Given the description of an element on the screen output the (x, y) to click on. 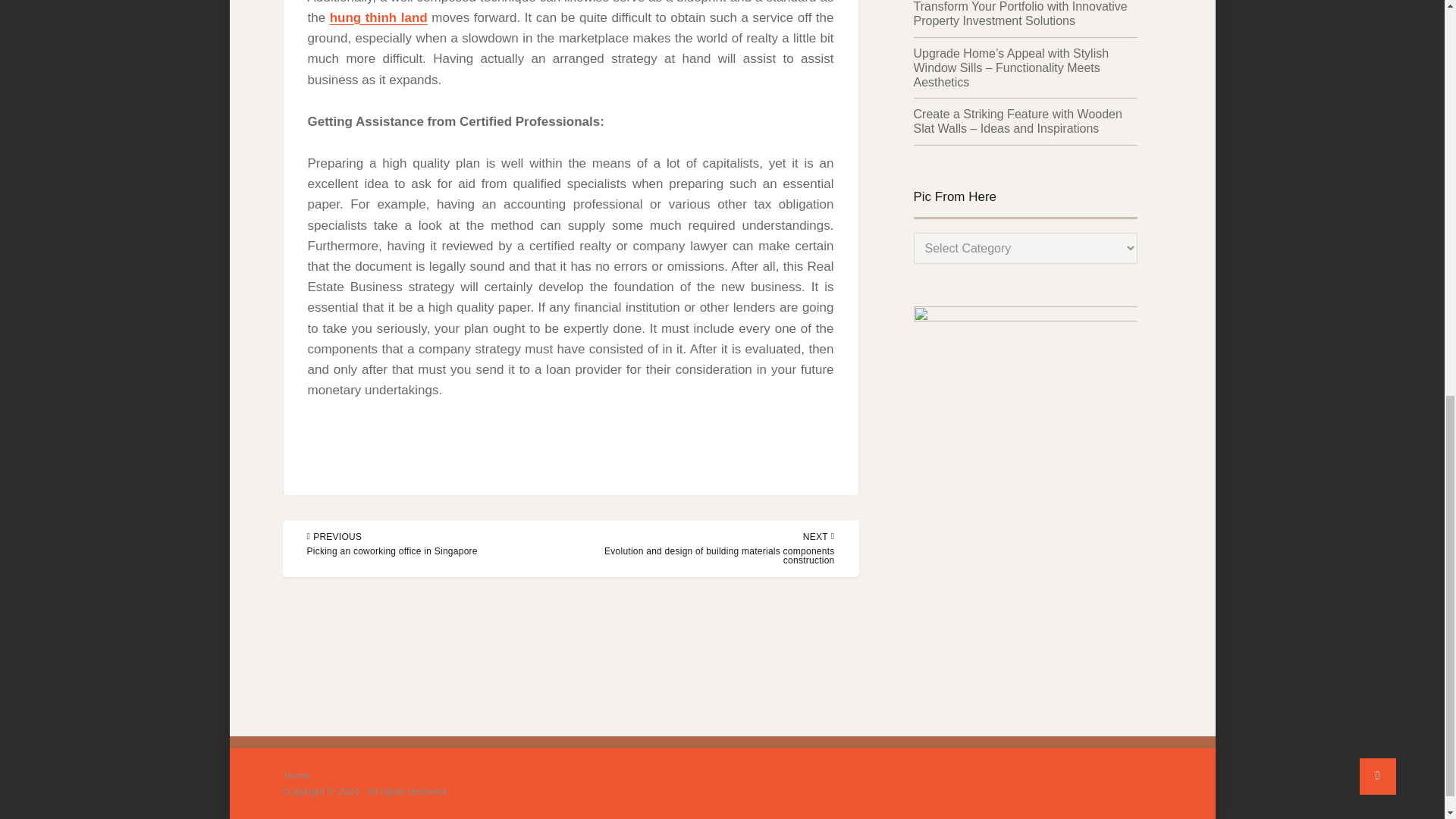
hung thinh land (379, 17)
Home (296, 775)
Scroll to top (1377, 3)
